Given the description of an element on the screen output the (x, y) to click on. 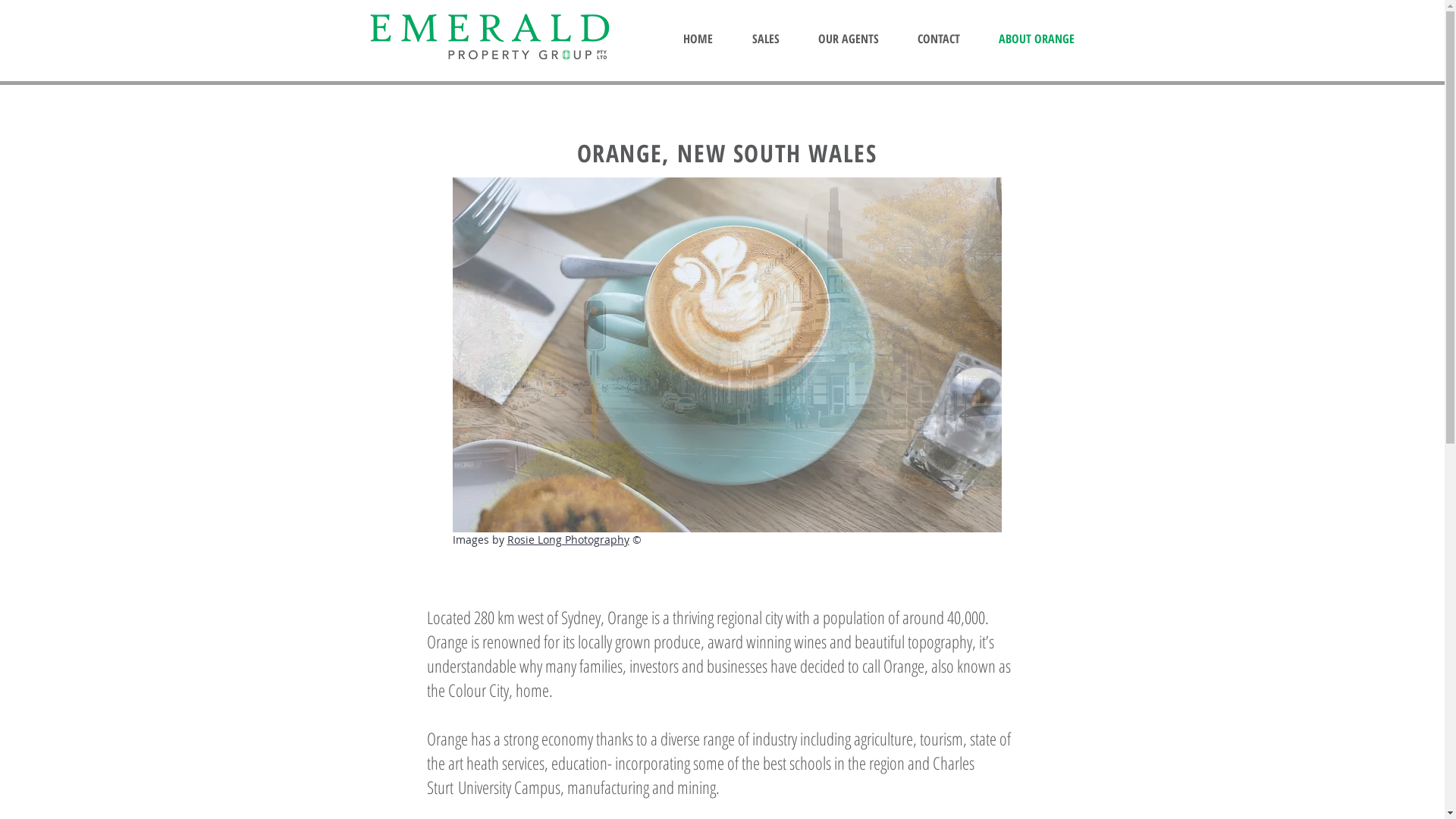
SALES Element type: text (765, 38)
HOME Element type: text (696, 38)
CONTACT Element type: text (938, 38)
ABOUT ORANGE Element type: text (1036, 38)
Rosie Long Photography Element type: text (567, 539)
OUR AGENTS Element type: text (848, 38)
